Given the description of an element on the screen output the (x, y) to click on. 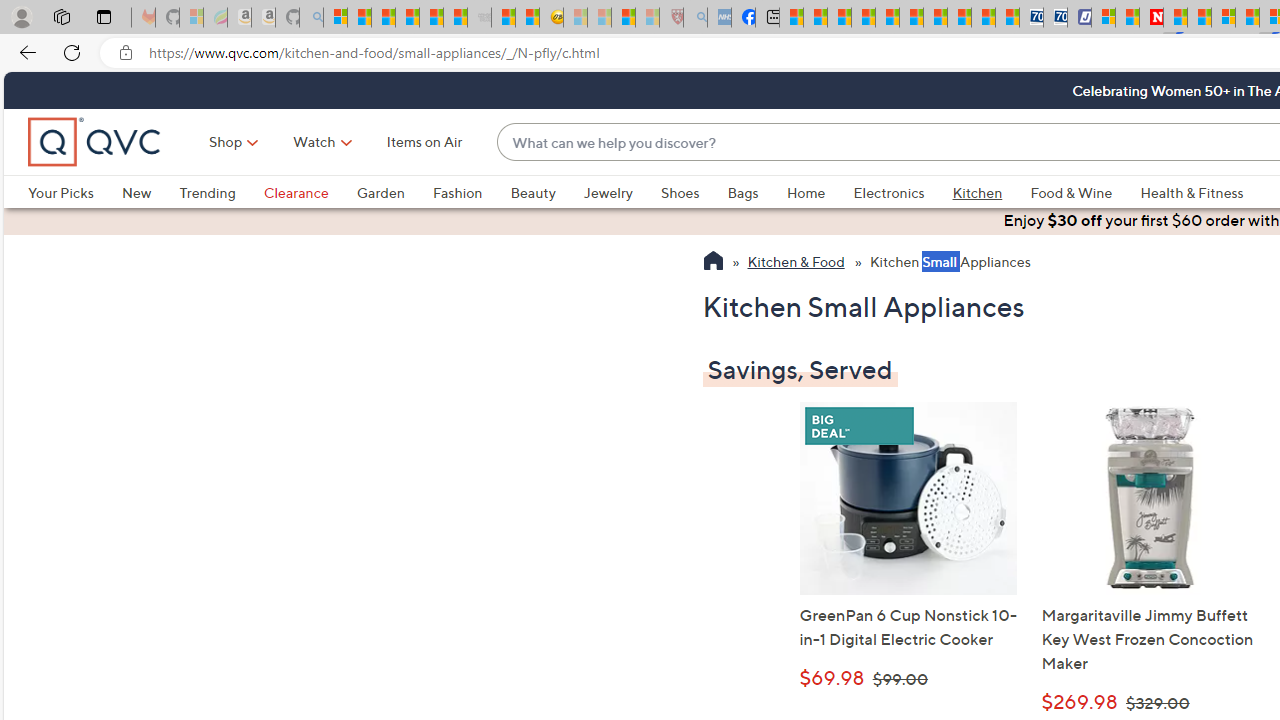
Return to QVC Homepage (712, 263)
Climate Damage Becomes Too Severe To Reverse (863, 17)
Your Picks (74, 192)
Shoes (694, 192)
Garden (379, 192)
Trending (221, 192)
Beauty (532, 192)
